Given the description of an element on the screen output the (x, y) to click on. 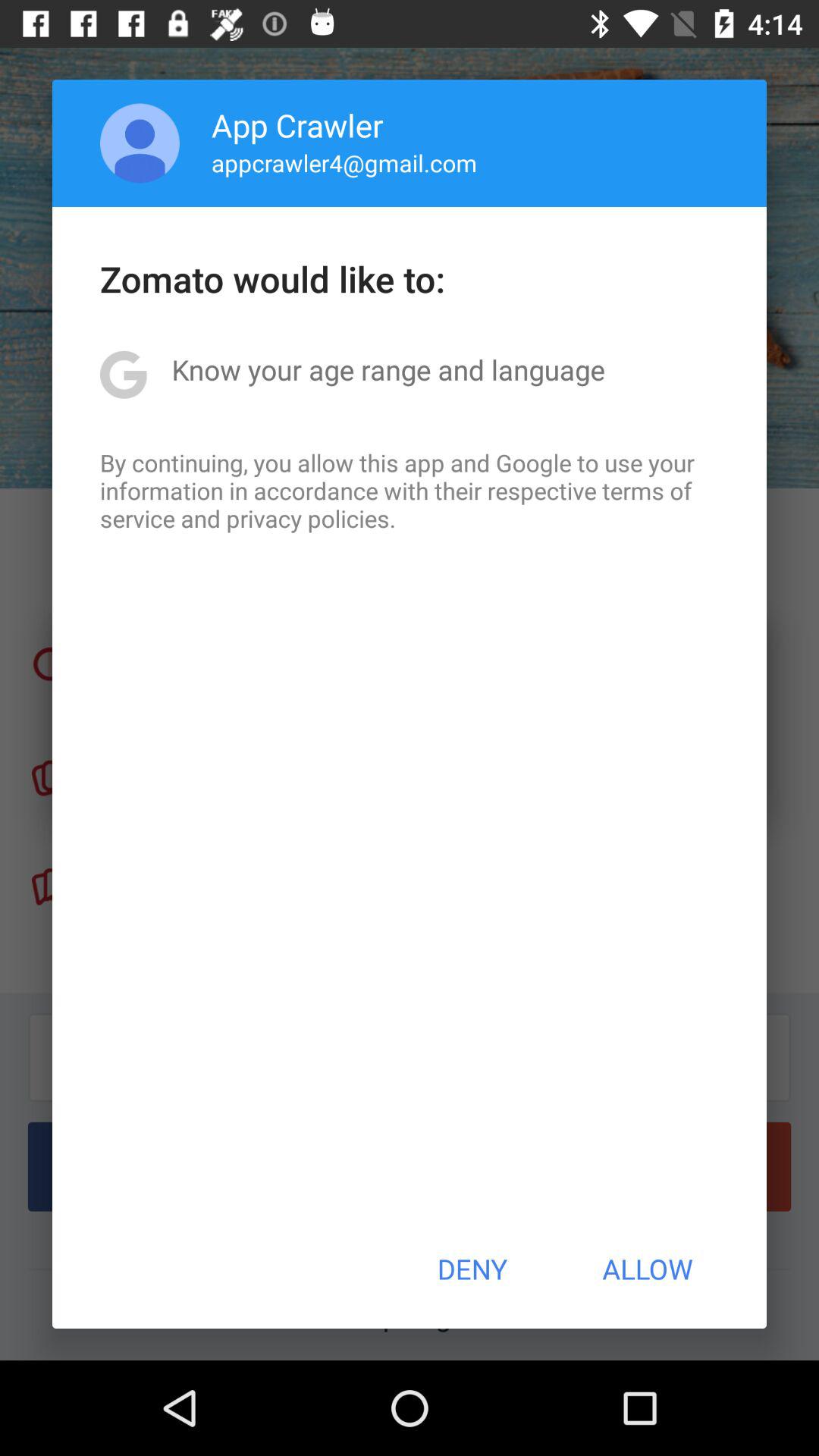
press the item below by continuing you app (471, 1268)
